Given the description of an element on the screen output the (x, y) to click on. 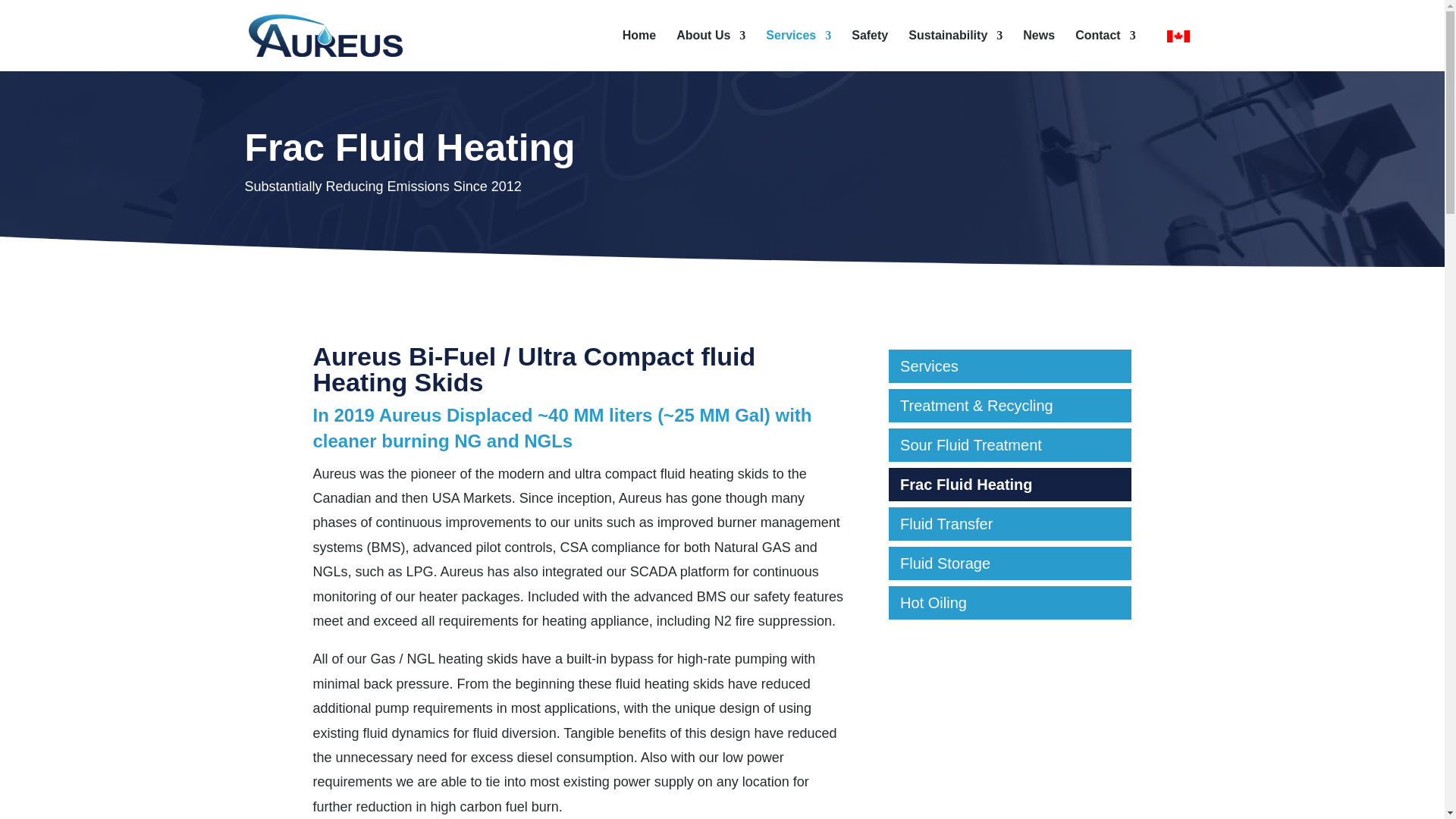
Contact (1105, 50)
Services (798, 50)
About Us (711, 50)
Safety (869, 50)
Sustainability (955, 50)
